Given the description of an element on the screen output the (x, y) to click on. 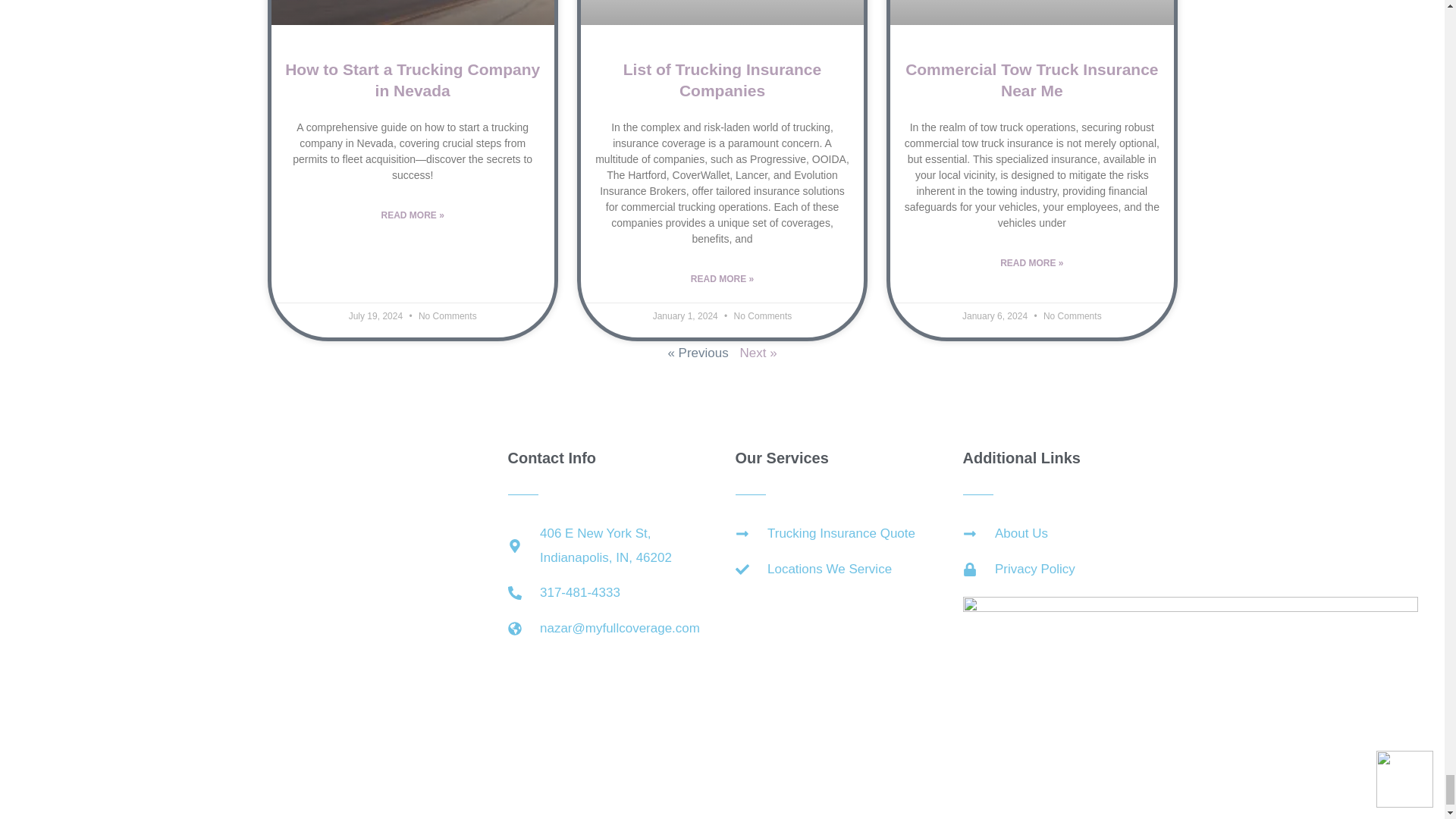
How to Start a Trucking Company in Nevada (412, 79)
List of Trucking Insurance Companies (722, 79)
Commercial Tow Truck Insurance Near Me (1031, 79)
